Given the description of an element on the screen output the (x, y) to click on. 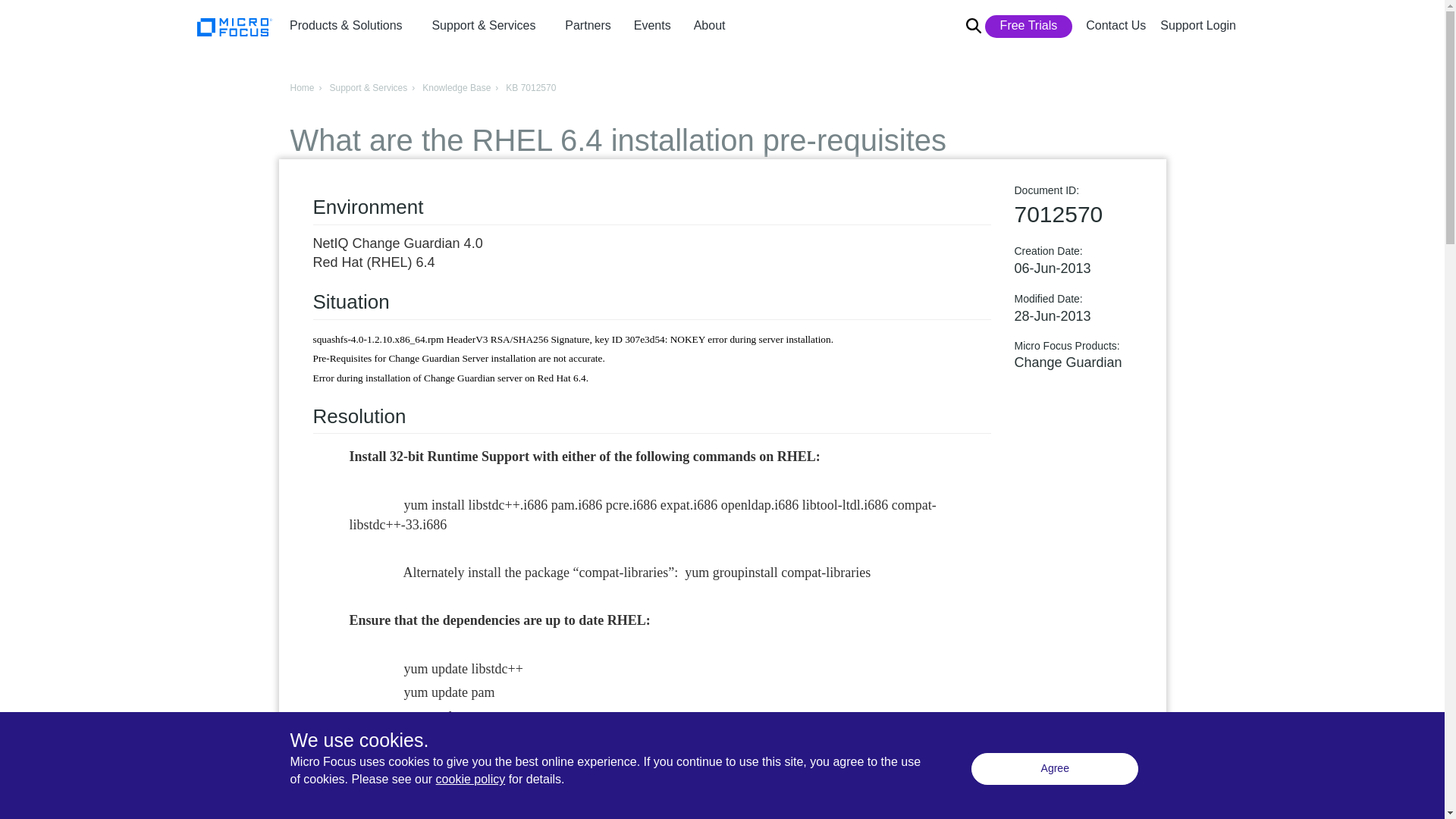
Agree (1054, 768)
cookie policy (470, 779)
